Given the description of an element on the screen output the (x, y) to click on. 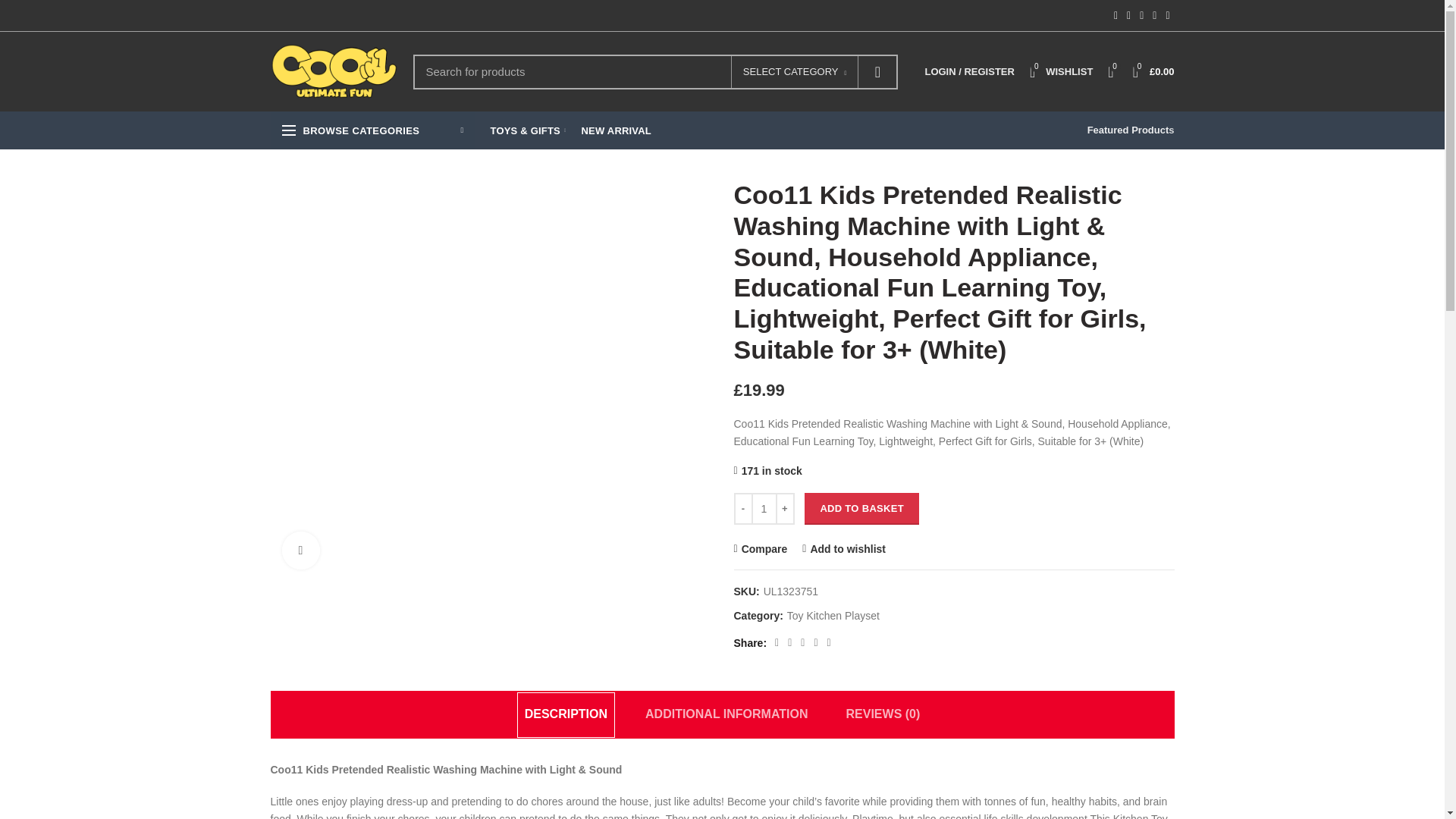
SEARCH (1061, 71)
My Wishlist (877, 71)
My account (1061, 71)
Shopping cart (969, 71)
SELECT CATEGORY (1153, 71)
SELECT CATEGORY (795, 72)
